Given the description of an element on the screen output the (x, y) to click on. 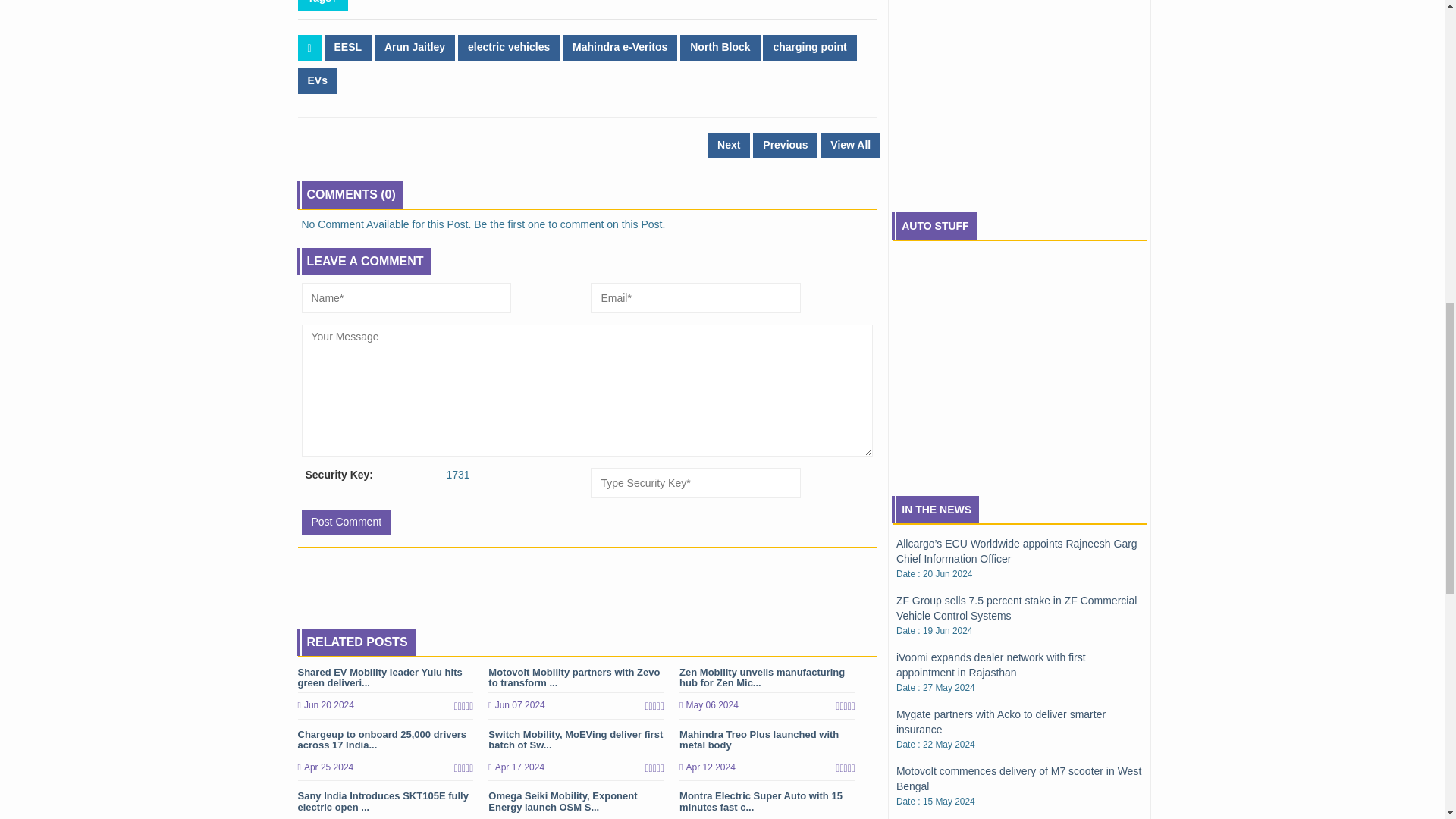
EESL (348, 47)
electric vehicles (508, 47)
Arun Jaitley (414, 47)
Post Comment (346, 522)
Mahindra e-Veritos (619, 47)
